Given the description of an element on the screen output the (x, y) to click on. 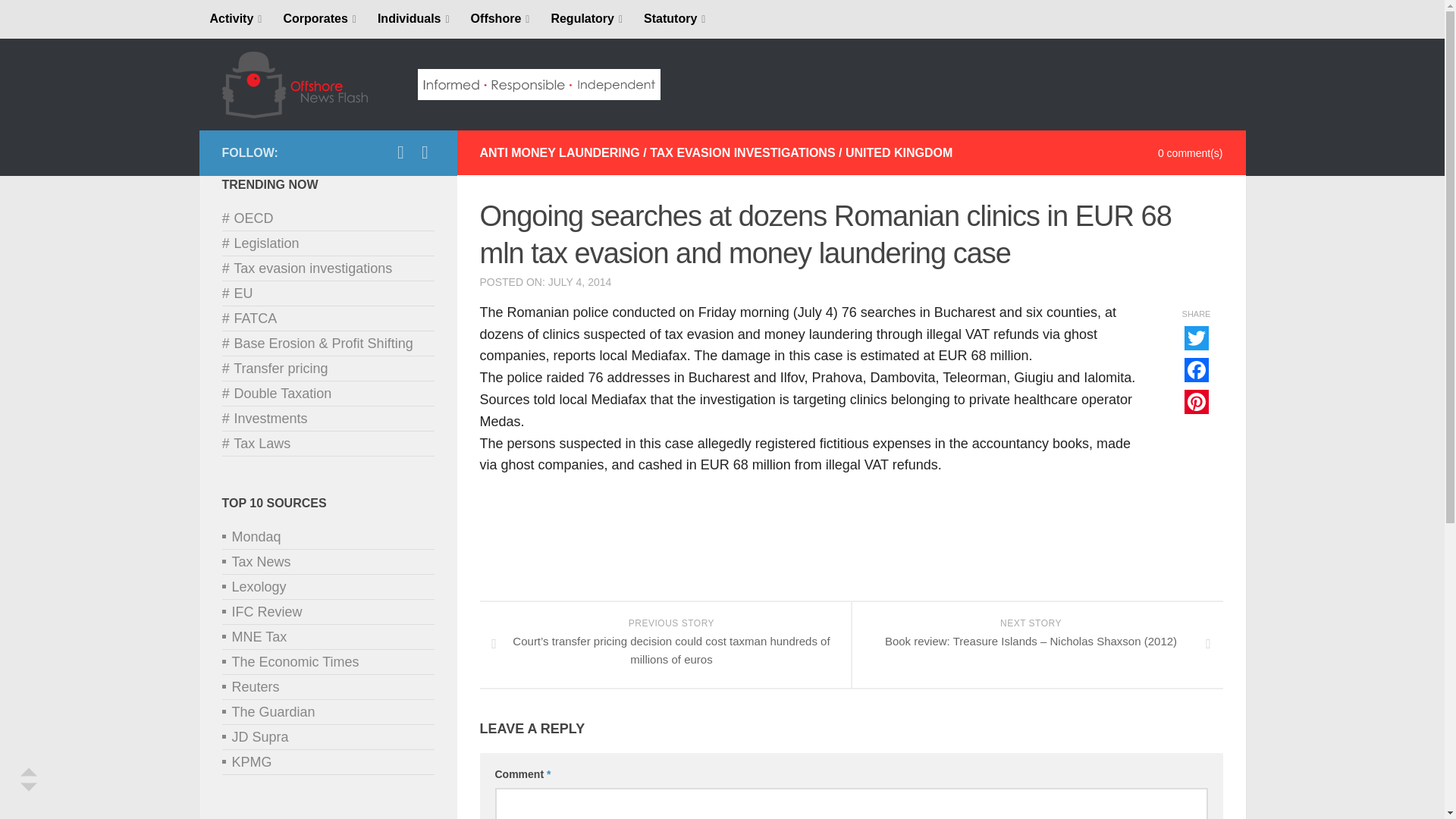
Activity (235, 19)
Corporates (319, 19)
Twitter (423, 152)
Facebook (400, 152)
